Given the description of an element on the screen output the (x, y) to click on. 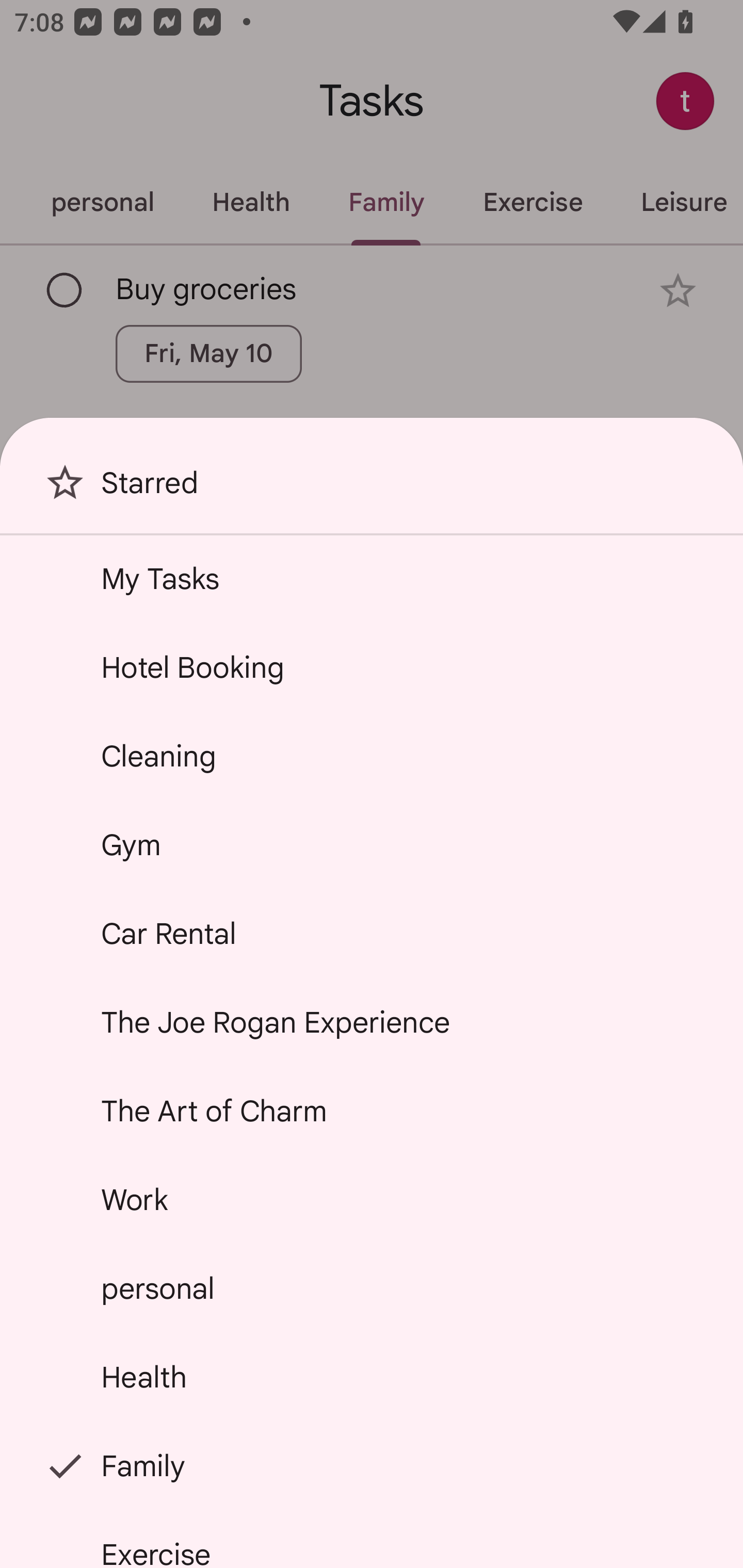
Starred (371, 489)
My Tasks (371, 578)
Hotel Booking (371, 667)
Cleaning (371, 756)
Gym (371, 844)
Car Rental (371, 933)
The Joe Rogan Experience (371, 1022)
The Art of Charm (371, 1110)
Work (371, 1200)
personal (371, 1287)
Health (371, 1377)
Family (371, 1465)
Exercise (371, 1539)
